Given the description of an element on the screen output the (x, y) to click on. 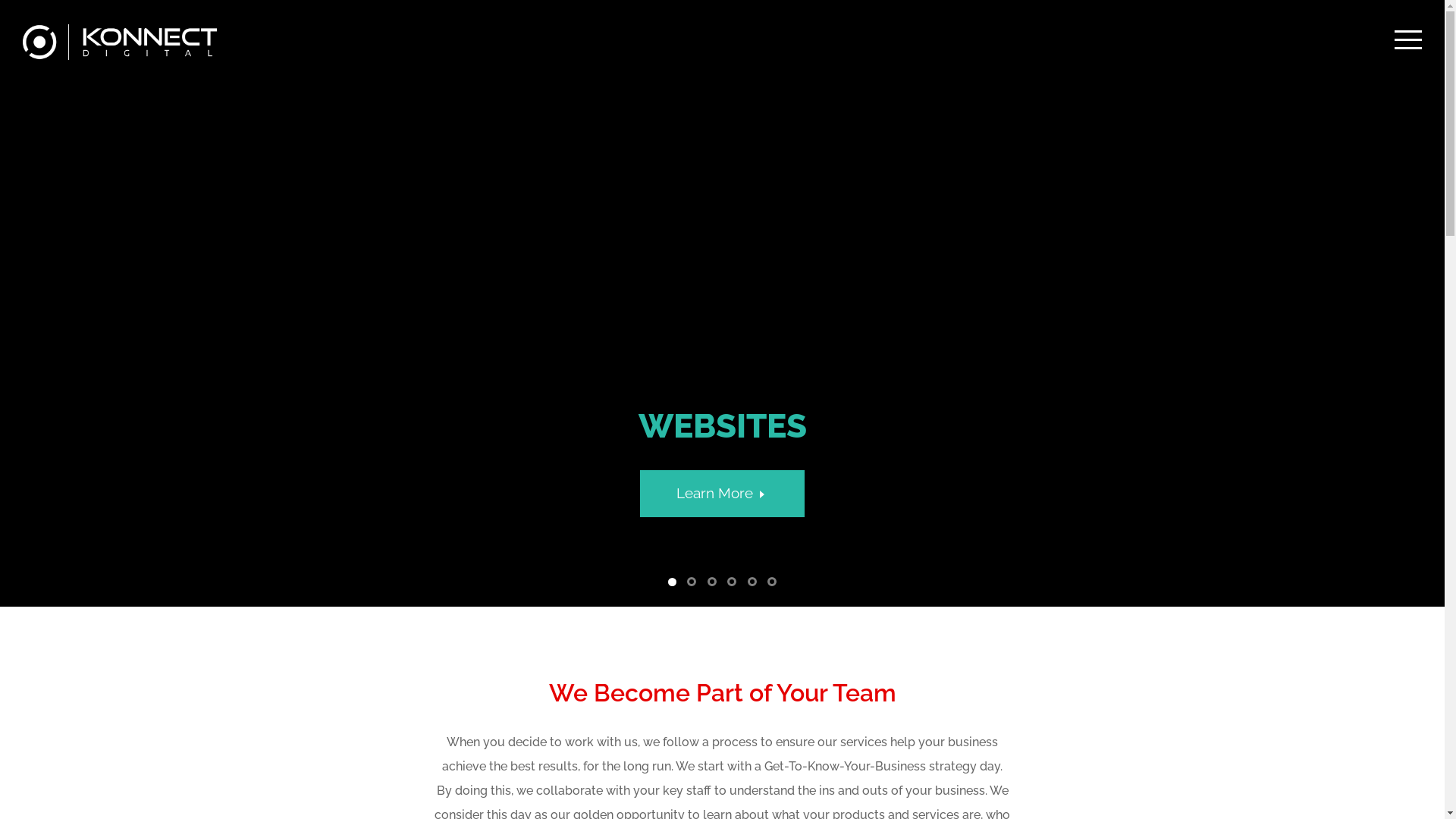
Learn More Element type: text (722, 493)
